Given the description of an element on the screen output the (x, y) to click on. 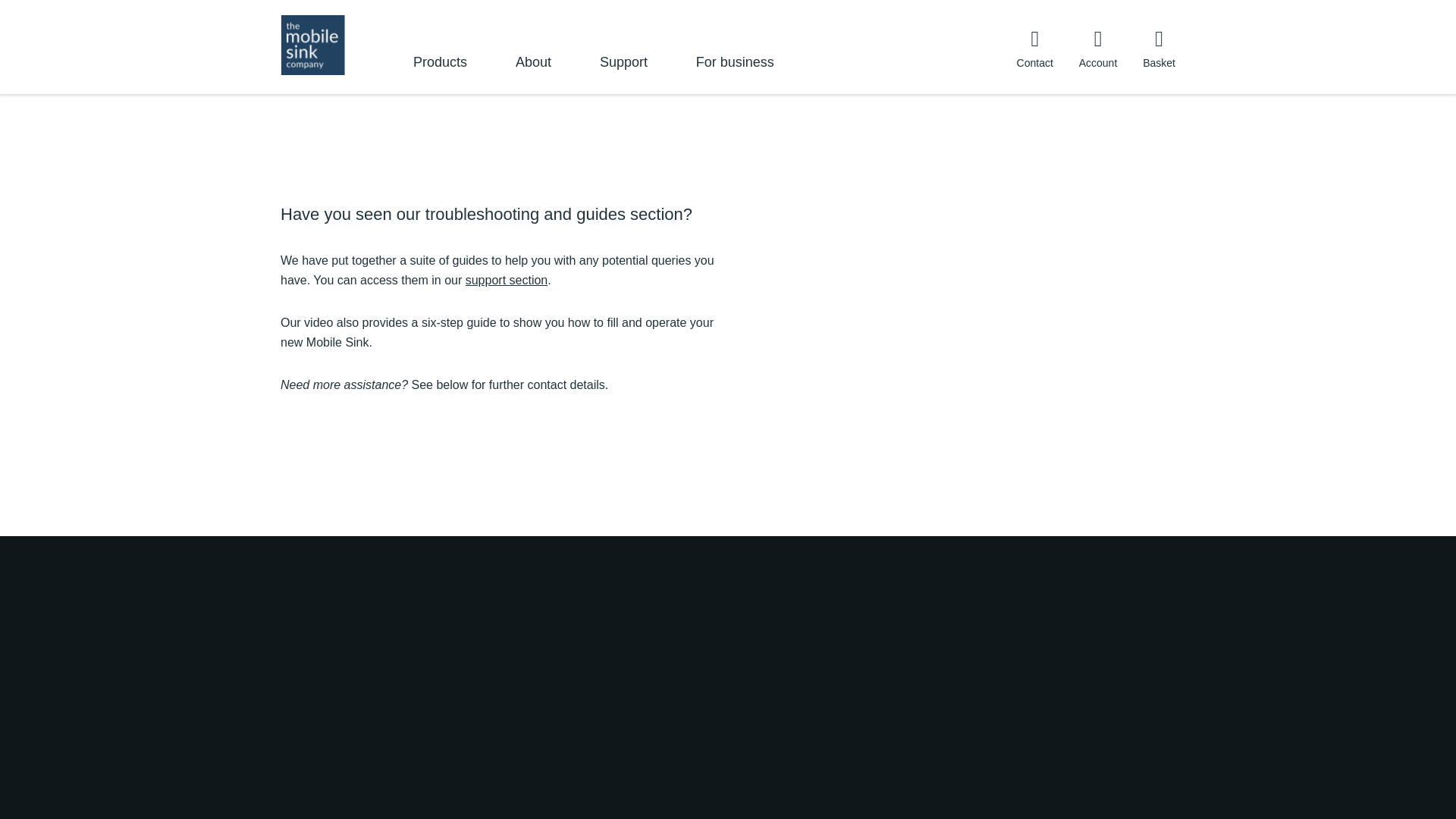
For business (735, 69)
Products (439, 69)
About (533, 69)
Account (1098, 47)
Contact (1034, 47)
Support (622, 69)
